Given the description of an element on the screen output the (x, y) to click on. 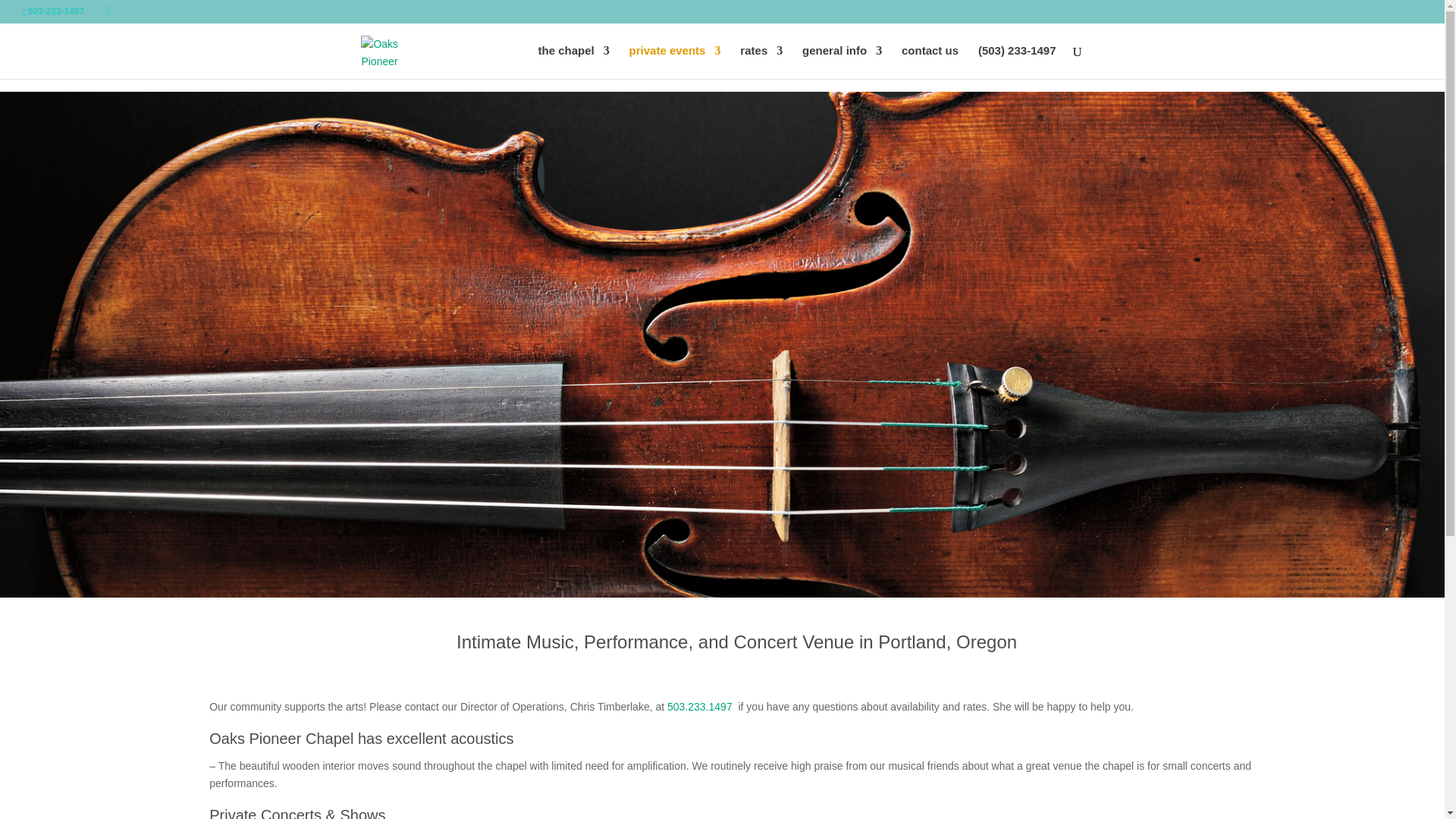
the chapel (574, 61)
rates (761, 61)
general info (842, 61)
private events (674, 61)
